Given the description of an element on the screen output the (x, y) to click on. 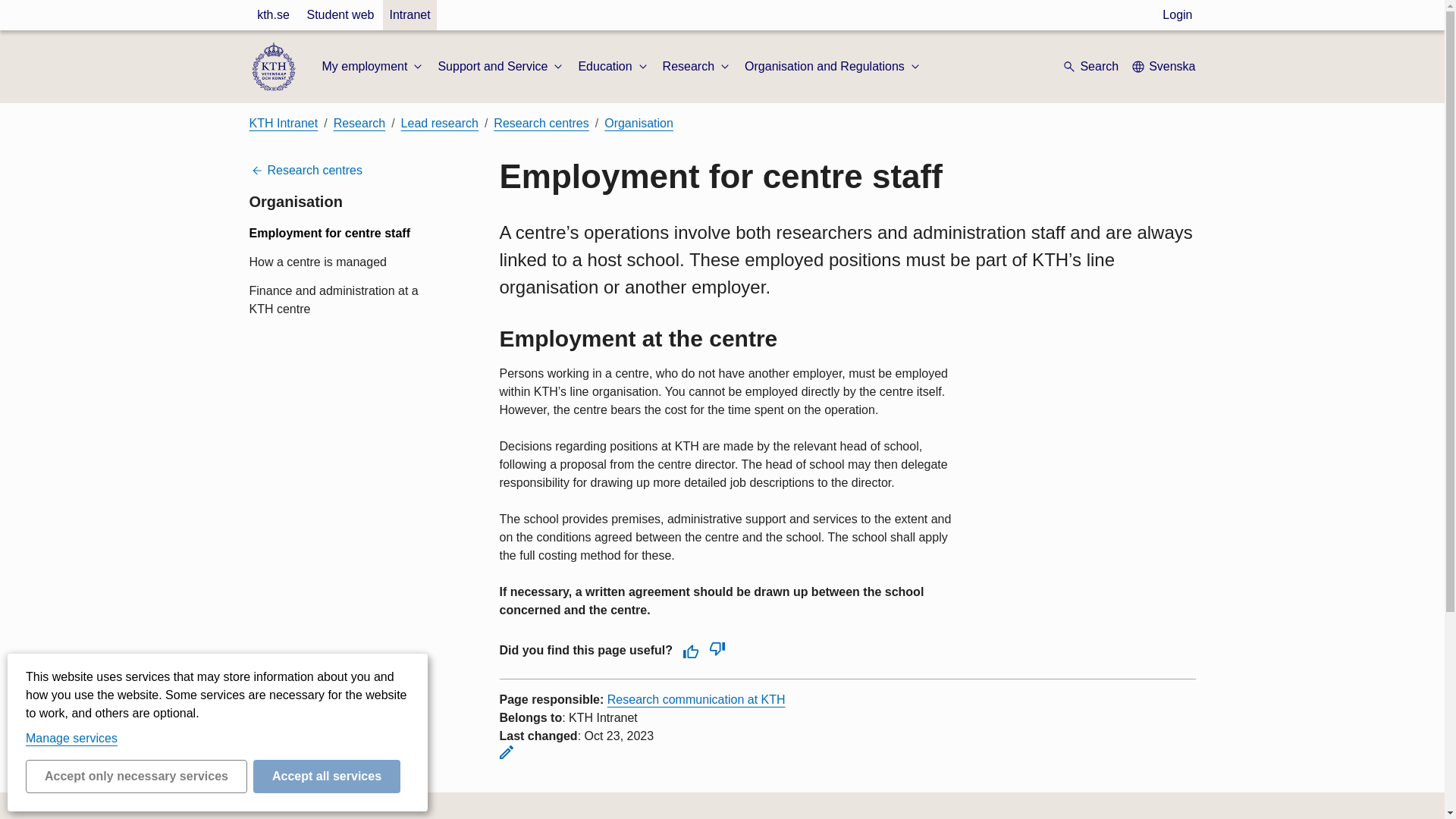
Login (1176, 15)
My employment (373, 66)
kth.se (272, 15)
Research (697, 66)
Intranet (408, 15)
Student web (339, 15)
Accept only necessary services (136, 776)
Accept all services (326, 776)
Education (613, 66)
Manage services (71, 738)
